Given the description of an element on the screen output the (x, y) to click on. 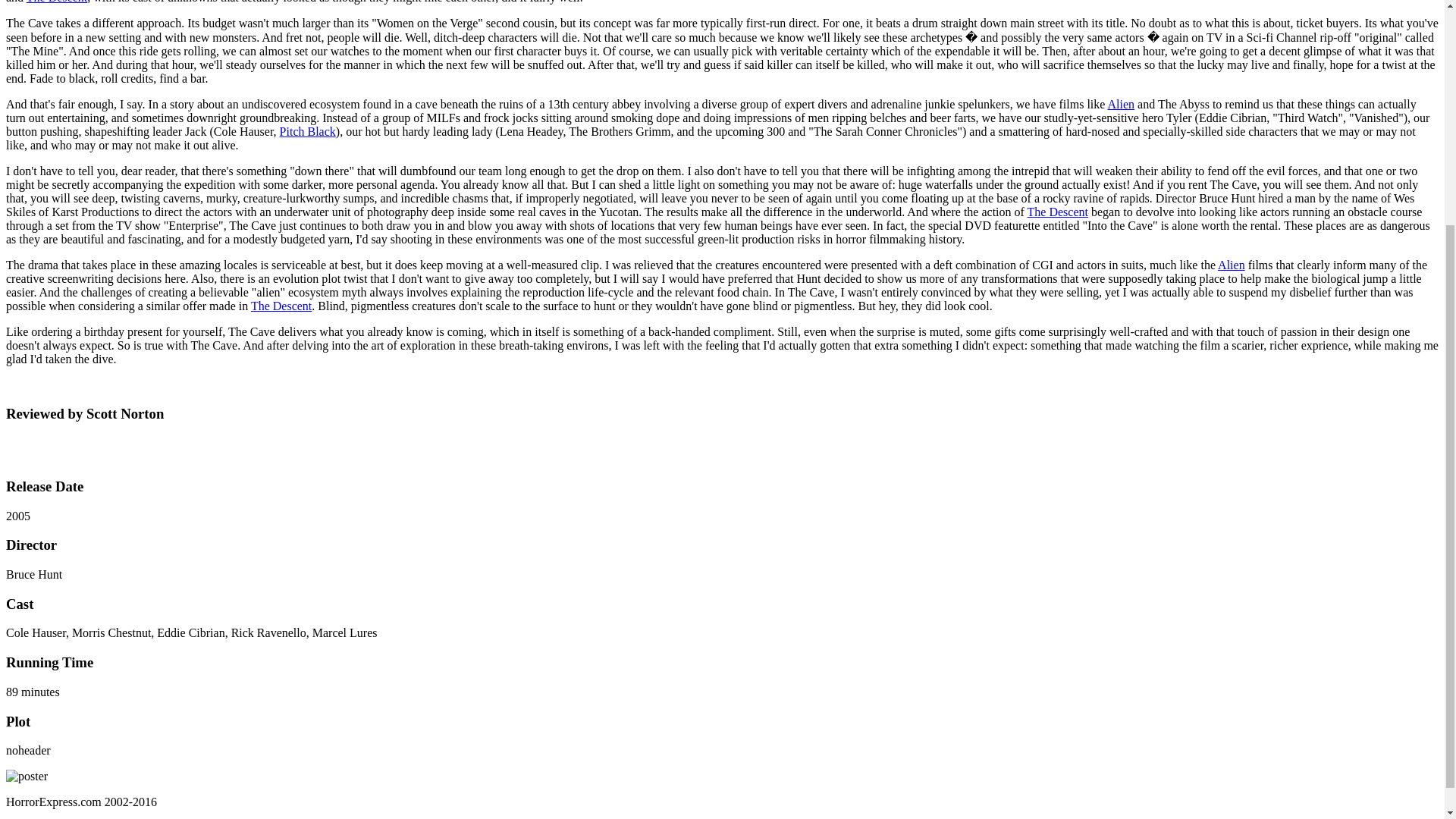
Alien (1230, 264)
The Descent (280, 305)
The Descent (56, 2)
The Descent (1057, 211)
Pitch Black (307, 131)
Alien (1121, 103)
